Given the description of an element on the screen output the (x, y) to click on. 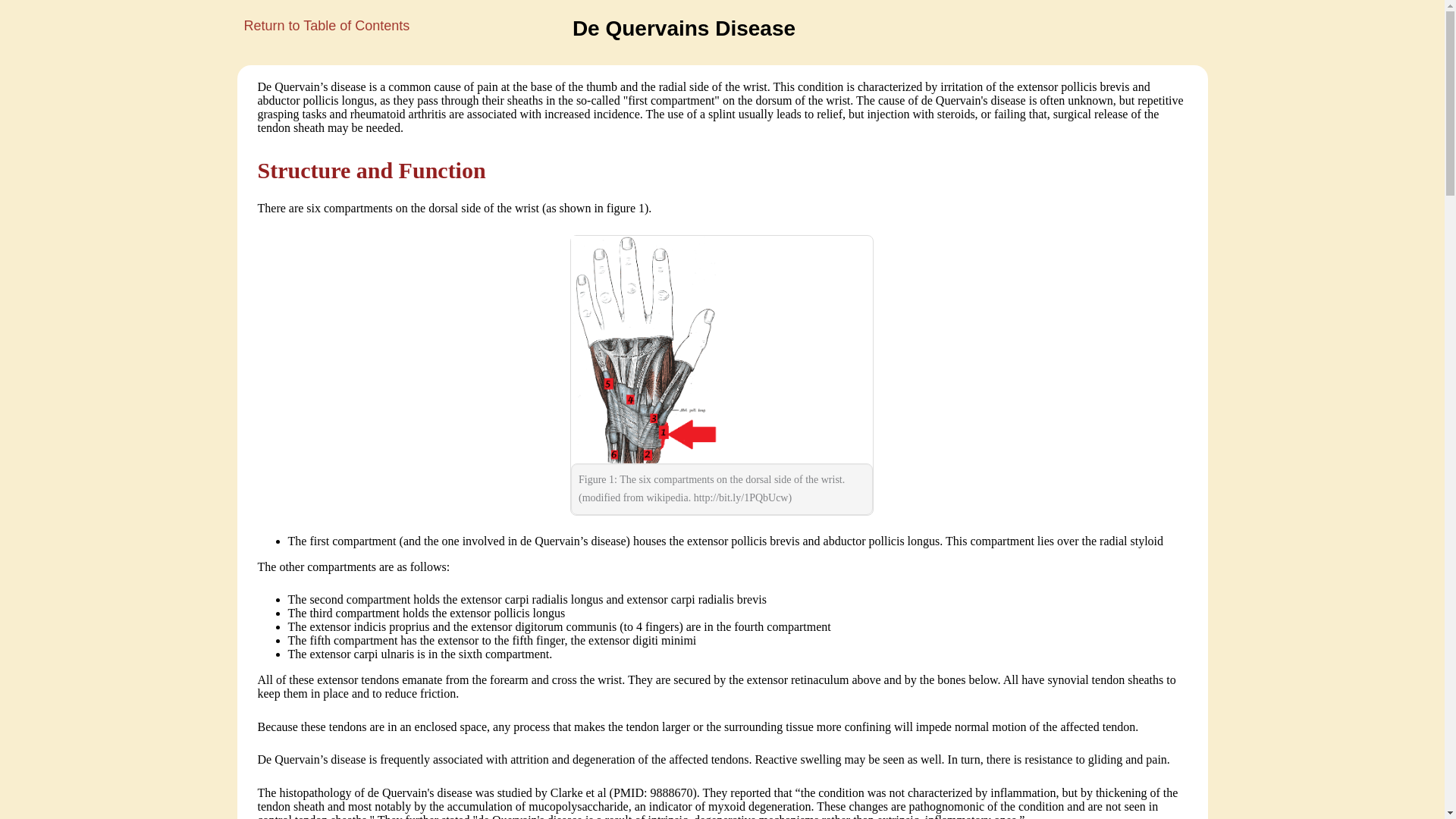
Return to Table of Contents (322, 25)
